Given the description of an element on the screen output the (x, y) to click on. 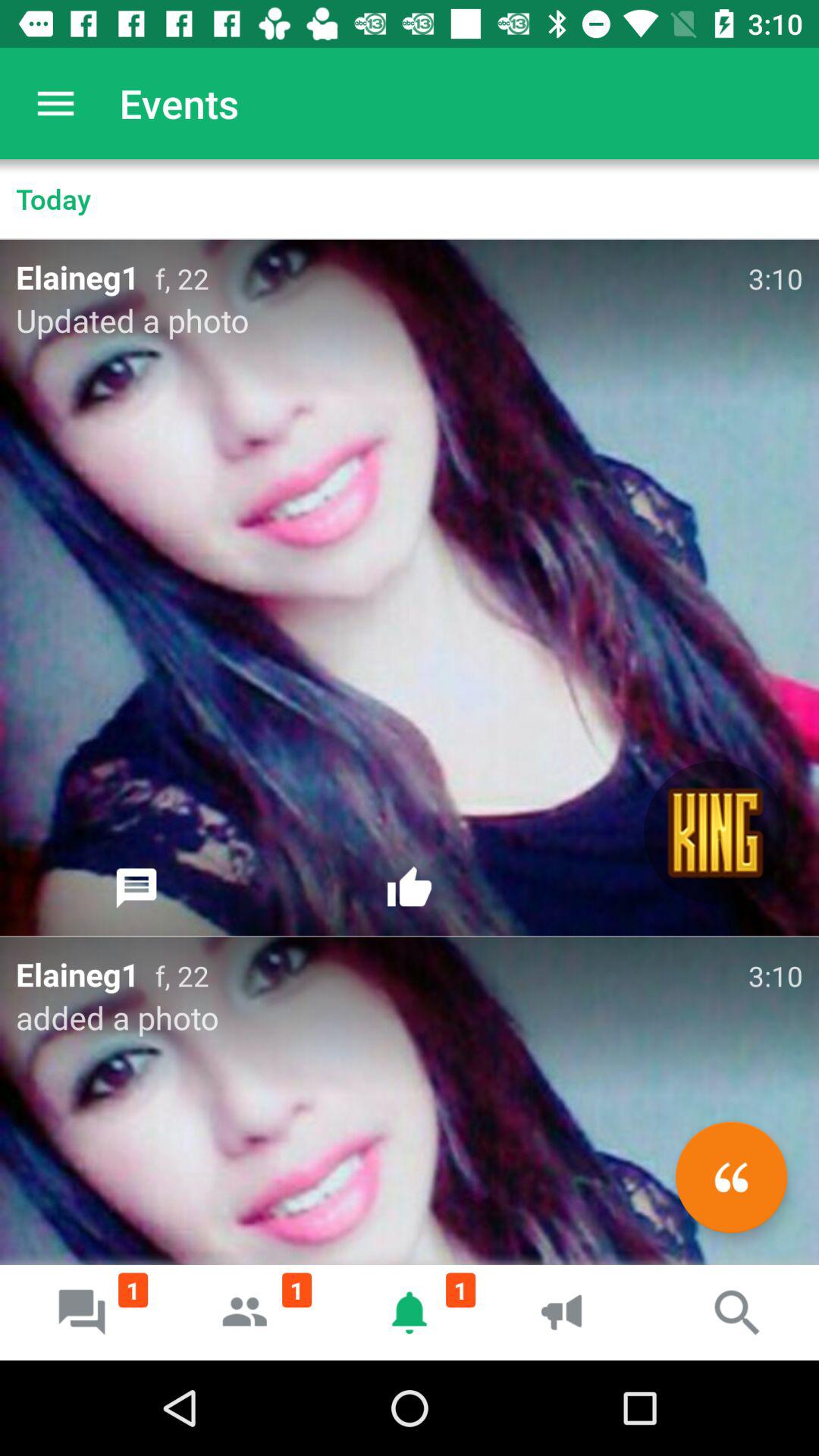
click message image at bottom left of the page (81, 1312)
select the image which is on left to bell symbol (245, 1312)
click the search button on the bottom right corner of the web page (737, 1312)
click the button on the left to the search button on the web page (573, 1312)
click on like button (409, 888)
click on the notification icon (409, 1312)
